Given the description of an element on the screen output the (x, y) to click on. 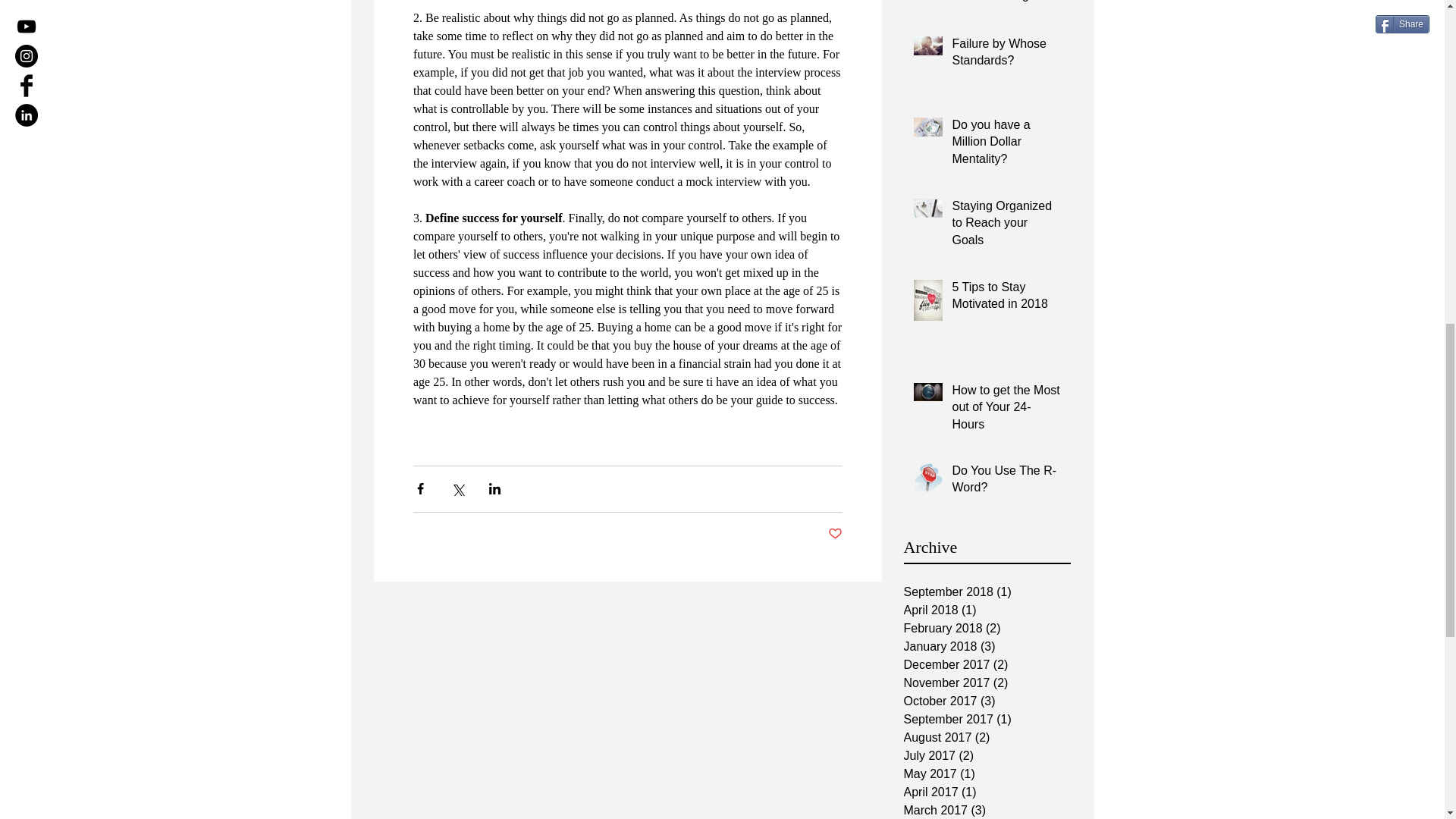
Post not marked as liked (835, 534)
Staying Organized to Reach your Goals (1006, 226)
Do you have a Million Dollar Mentality? (1006, 145)
Failure by Whose Standards? (1006, 56)
Do You Use The R-Word? (1006, 482)
5 Tips to Stay Motivated in 2018 (1006, 299)
How to get the Most out of Your 24-Hours (1006, 410)
